Given the description of an element on the screen output the (x, y) to click on. 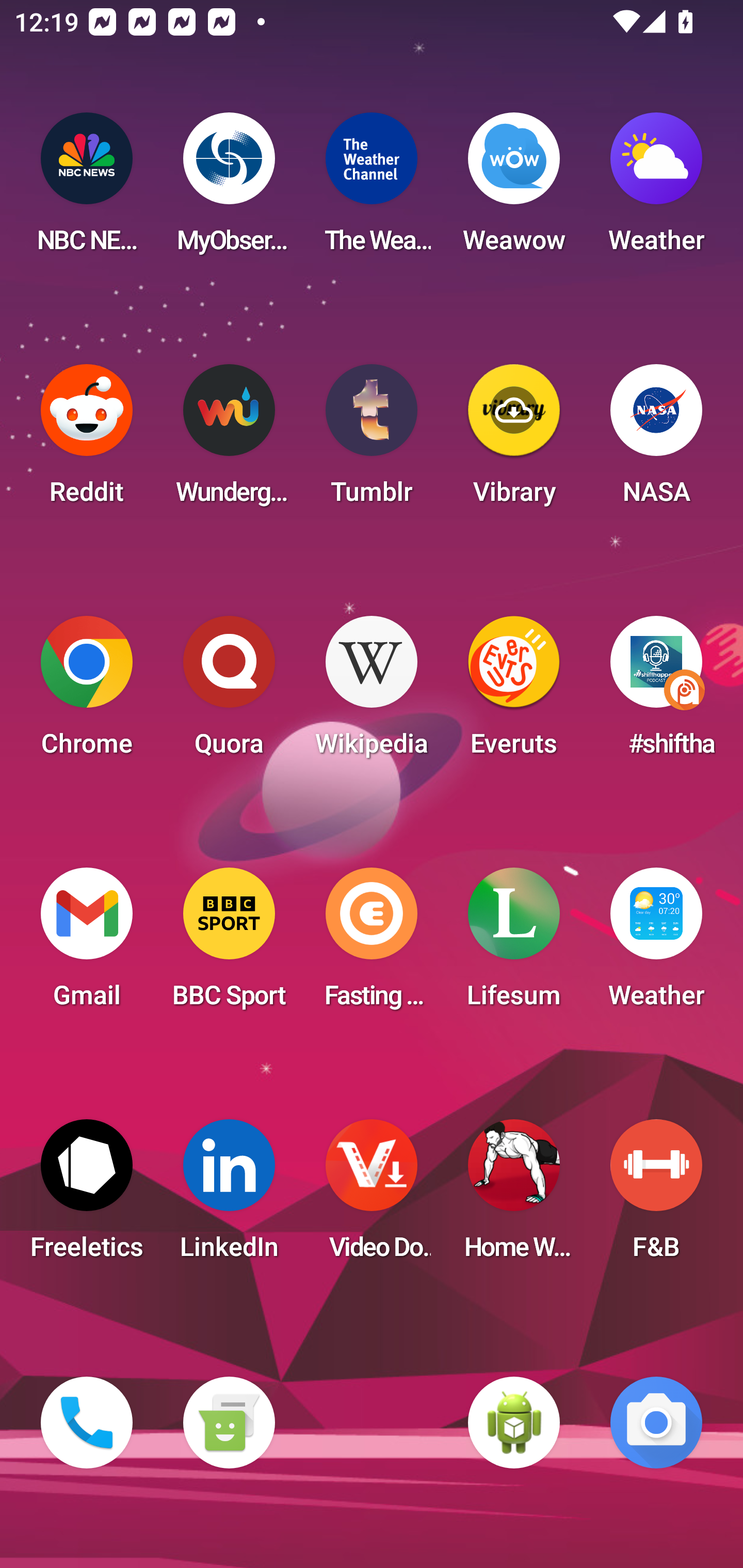
NBC NEWS (86, 188)
MyObservatory (228, 188)
The Weather Channel (371, 188)
Weawow (513, 188)
Weather (656, 188)
Reddit (86, 440)
Wunderground (228, 440)
Tumblr (371, 440)
Vibrary (513, 440)
NASA (656, 440)
Chrome (86, 692)
Quora (228, 692)
Wikipedia (371, 692)
Everuts (513, 692)
#shifthappens in the Digital Workplace Podcast (656, 692)
Gmail (86, 943)
BBC Sport (228, 943)
Fasting Coach (371, 943)
Lifesum (513, 943)
Weather (656, 943)
Freeletics (86, 1195)
LinkedIn (228, 1195)
Video Downloader & Ace Player (371, 1195)
Home Workout (513, 1195)
F&B (656, 1195)
Phone (86, 1422)
Messaging (228, 1422)
WebView Browser Tester (513, 1422)
Camera (656, 1422)
